Given the description of an element on the screen output the (x, y) to click on. 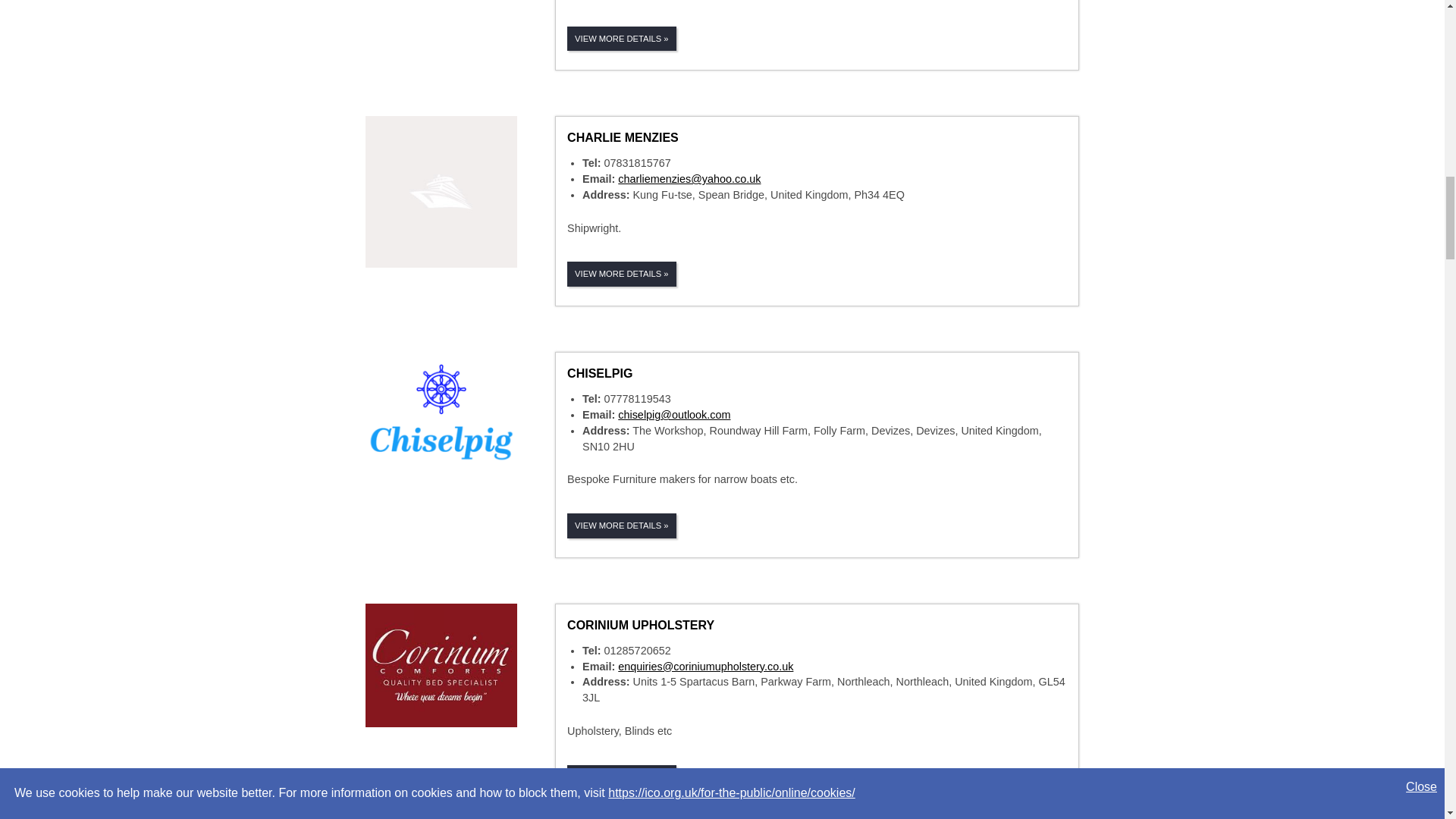
CHARLIE MENZIES (622, 137)
CORINIUM UPHOLSTERY (640, 625)
CHISELPIG (599, 373)
